Given the description of an element on the screen output the (x, y) to click on. 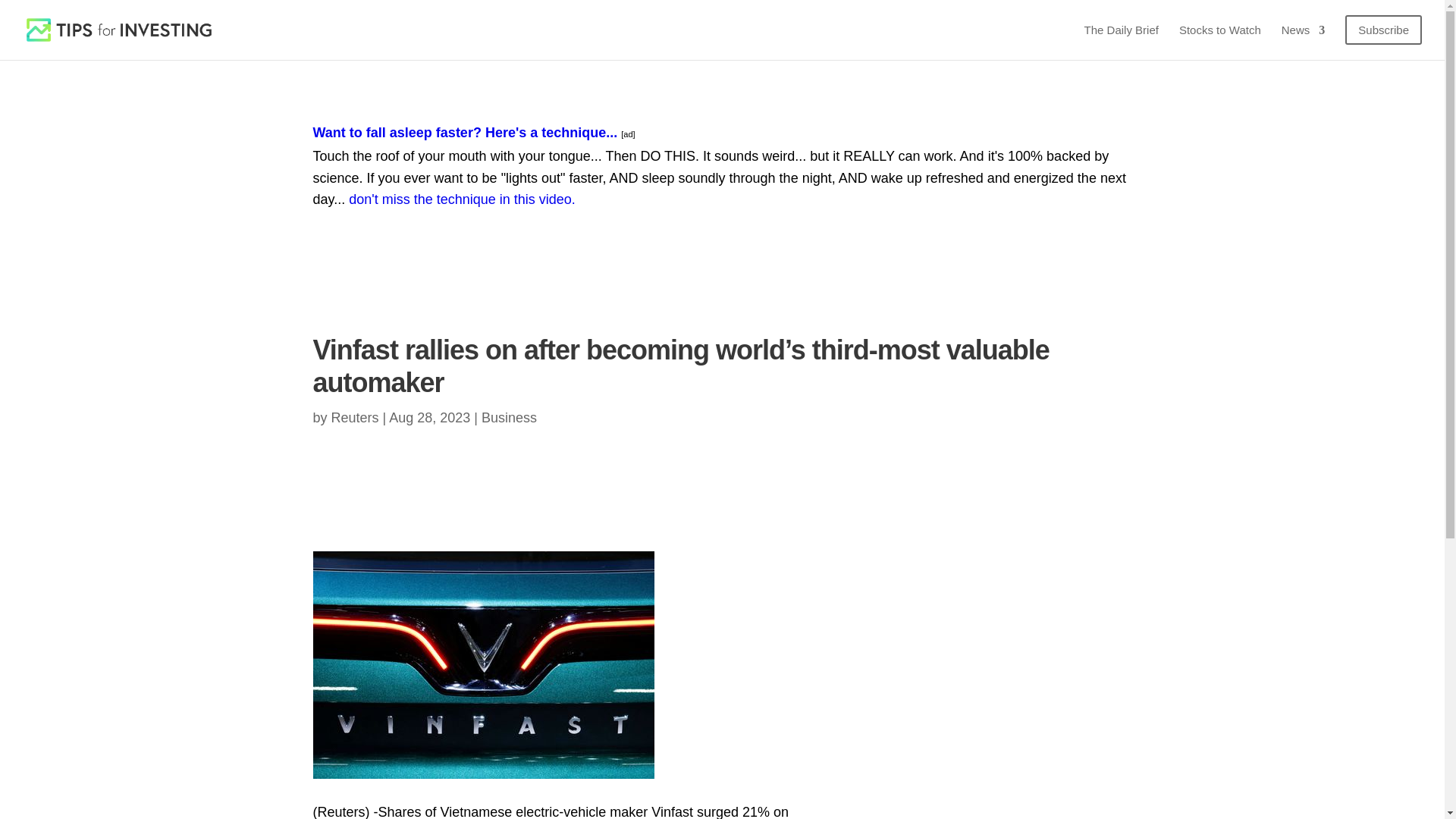
Business (509, 417)
News (1302, 36)
Stocks to Watch (1219, 36)
The Daily Brief (1121, 36)
Posts by Reuters (354, 417)
Reuters (354, 417)
Want to fall asleep faster? Here's a technique... (465, 132)
Subscribe (1383, 37)
FILE PHOTO: 2022 Paris Auto Show (483, 664)
don't miss the technique in this video. (462, 199)
